Given the description of an element on the screen output the (x, y) to click on. 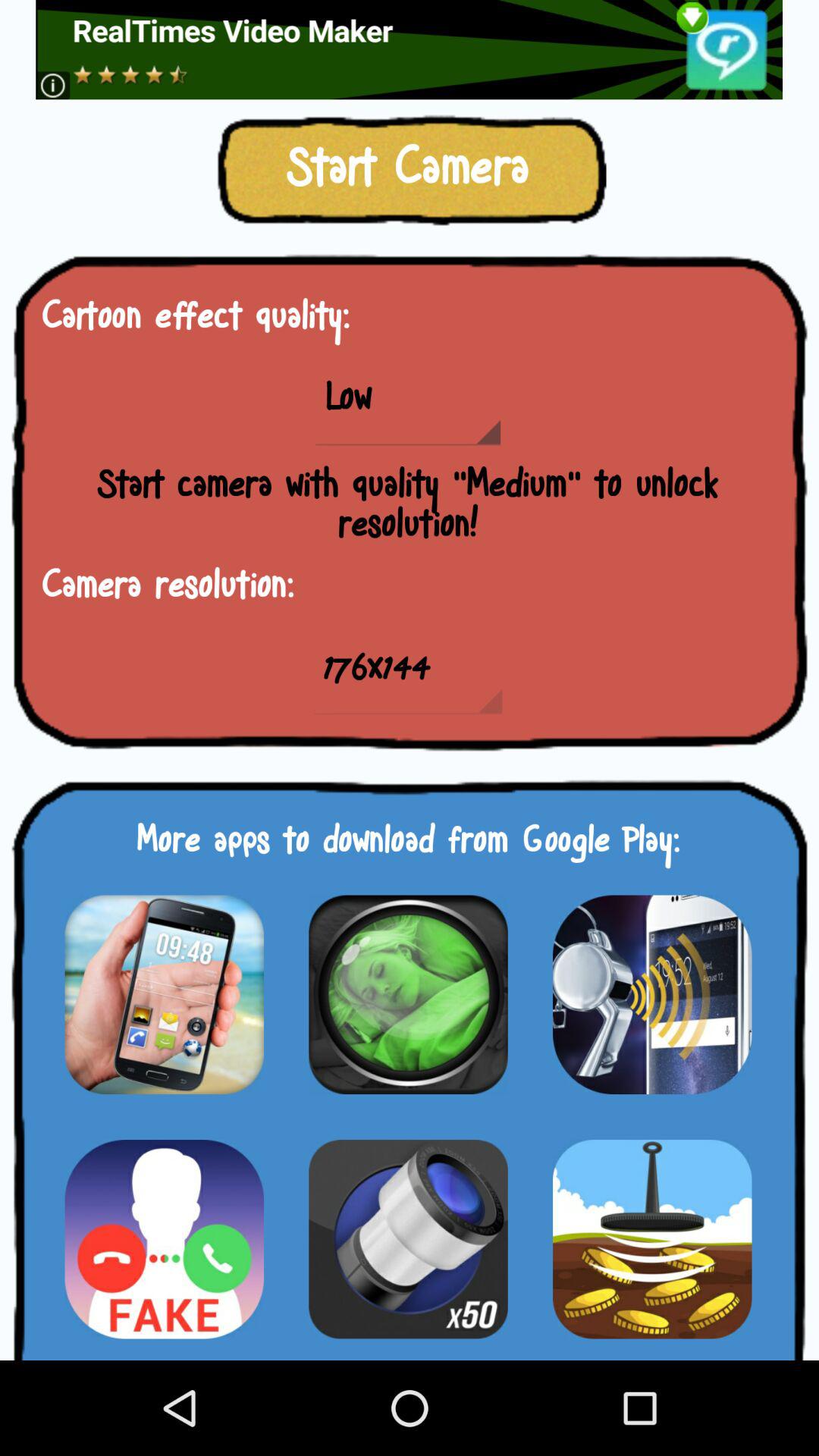
go to app download (164, 1239)
